Given the description of an element on the screen output the (x, y) to click on. 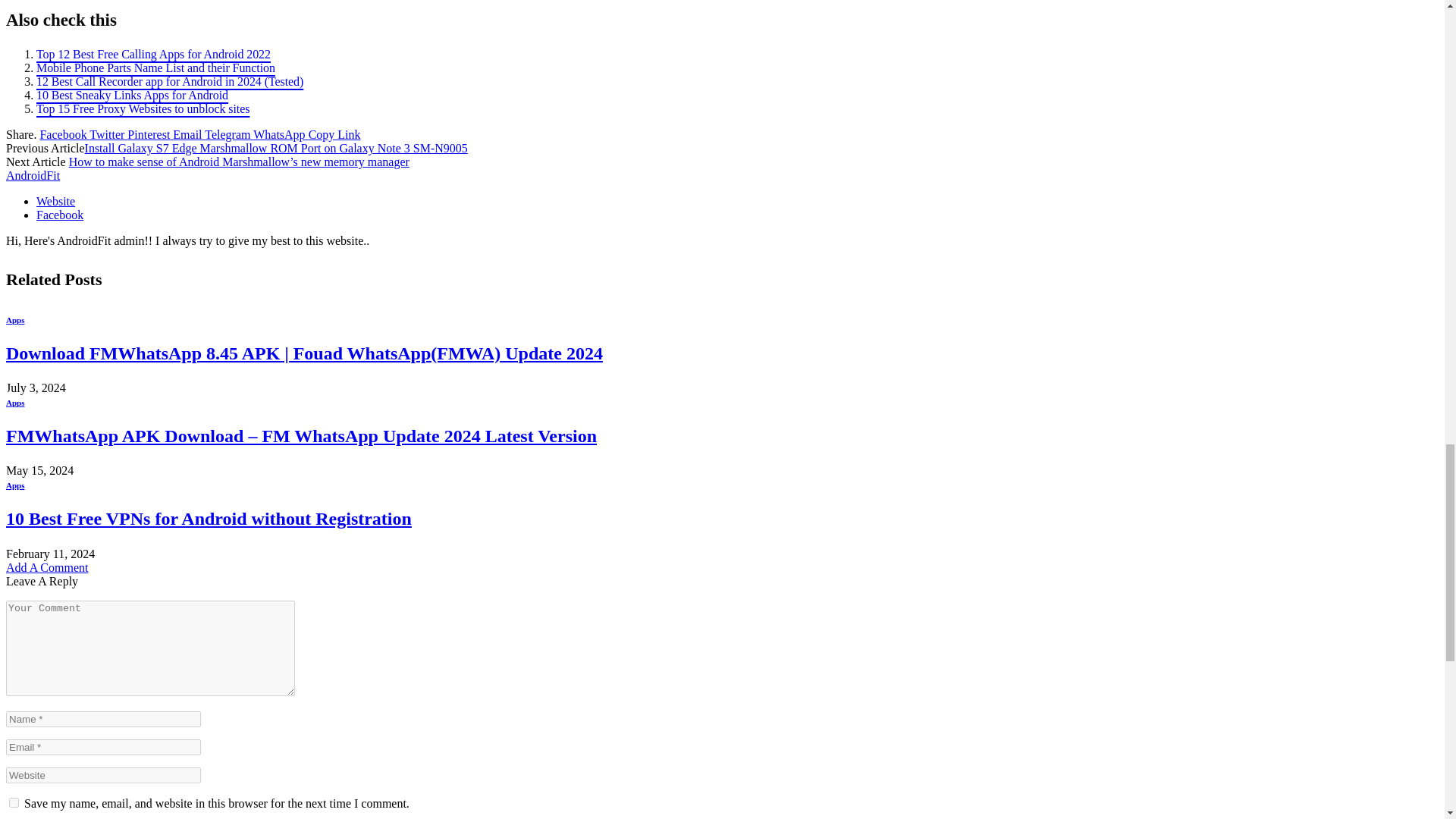
Mobile Phone Parts Name List and their Function (155, 67)
yes (13, 802)
Top 12 Best Free Calling Apps for Android 2022 (153, 53)
